Given the description of an element on the screen output the (x, y) to click on. 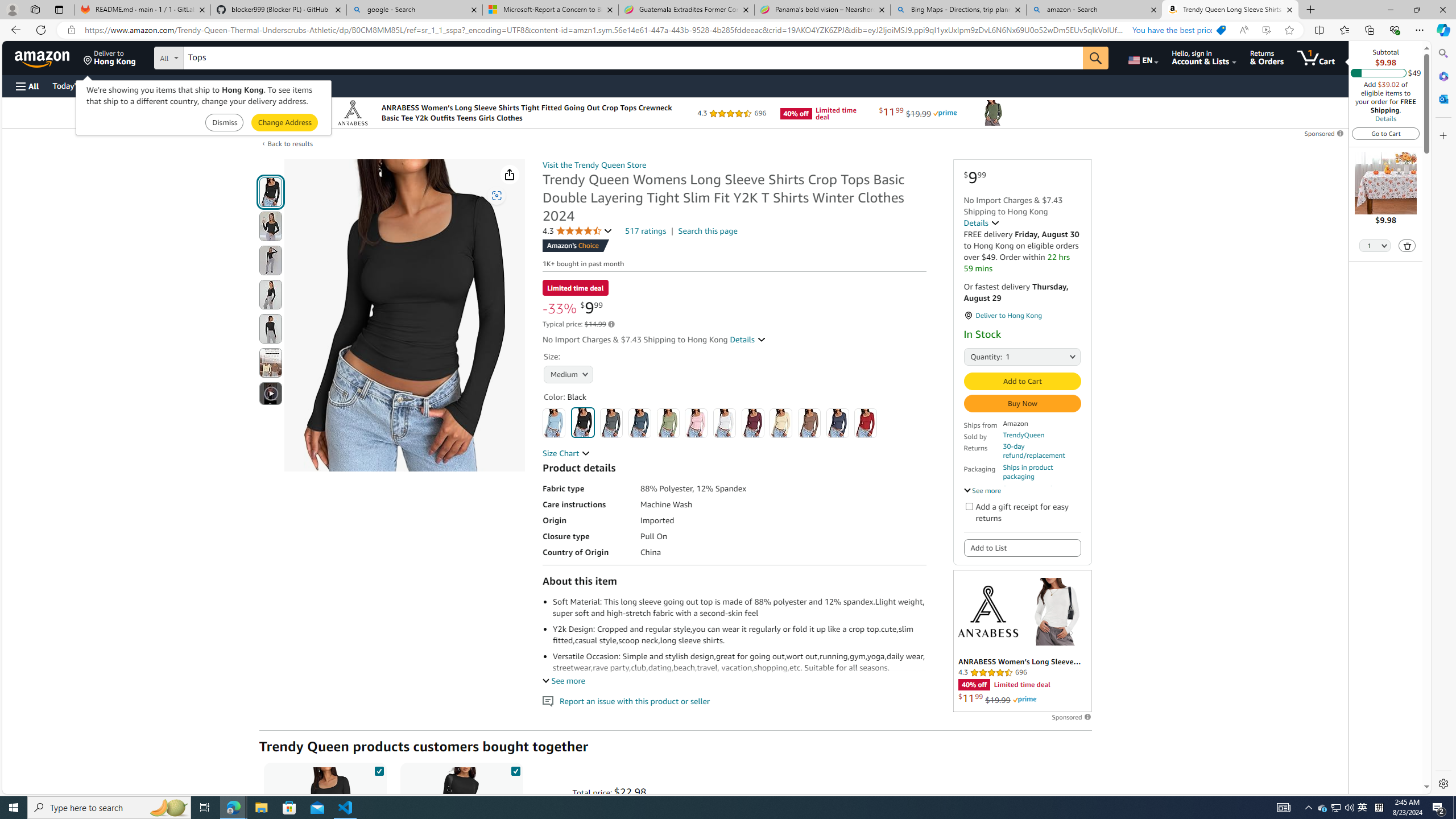
Buy Now (1021, 403)
Apricot (781, 422)
Open Menu (26, 86)
You have the best price! (1176, 29)
Size Chart  (566, 452)
Add to Cart (1021, 381)
517 ratings (645, 230)
Black (583, 422)
TrendyQueen (1024, 434)
Prime (1023, 699)
Registry (205, 85)
